Given the description of an element on the screen output the (x, y) to click on. 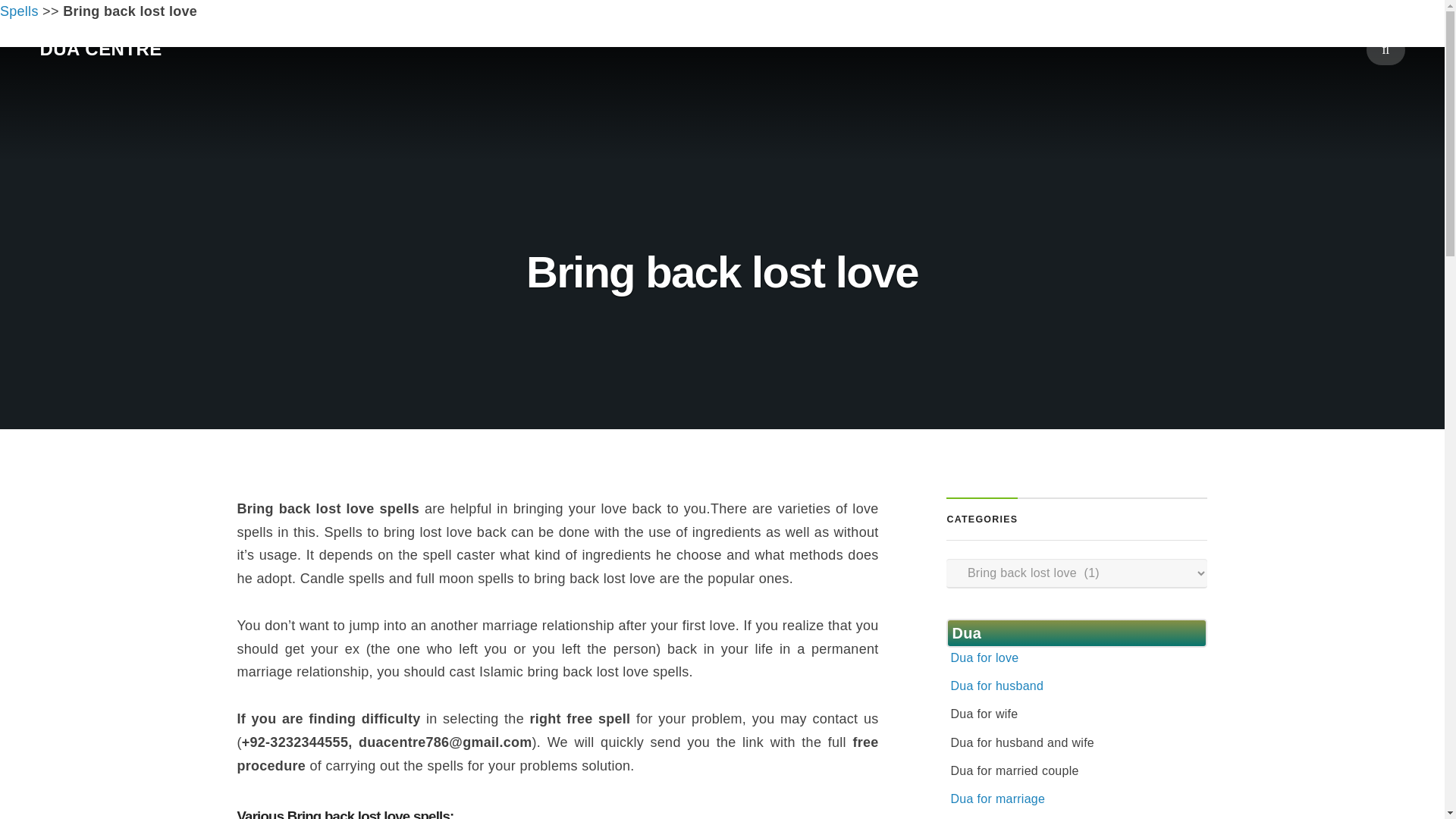
Dua (966, 632)
Spells (19, 11)
Dua for marriage (997, 798)
Search (721, 431)
DUA CENTRE (100, 48)
Dua for love (983, 657)
Dua for husband (996, 685)
